Given the description of an element on the screen output the (x, y) to click on. 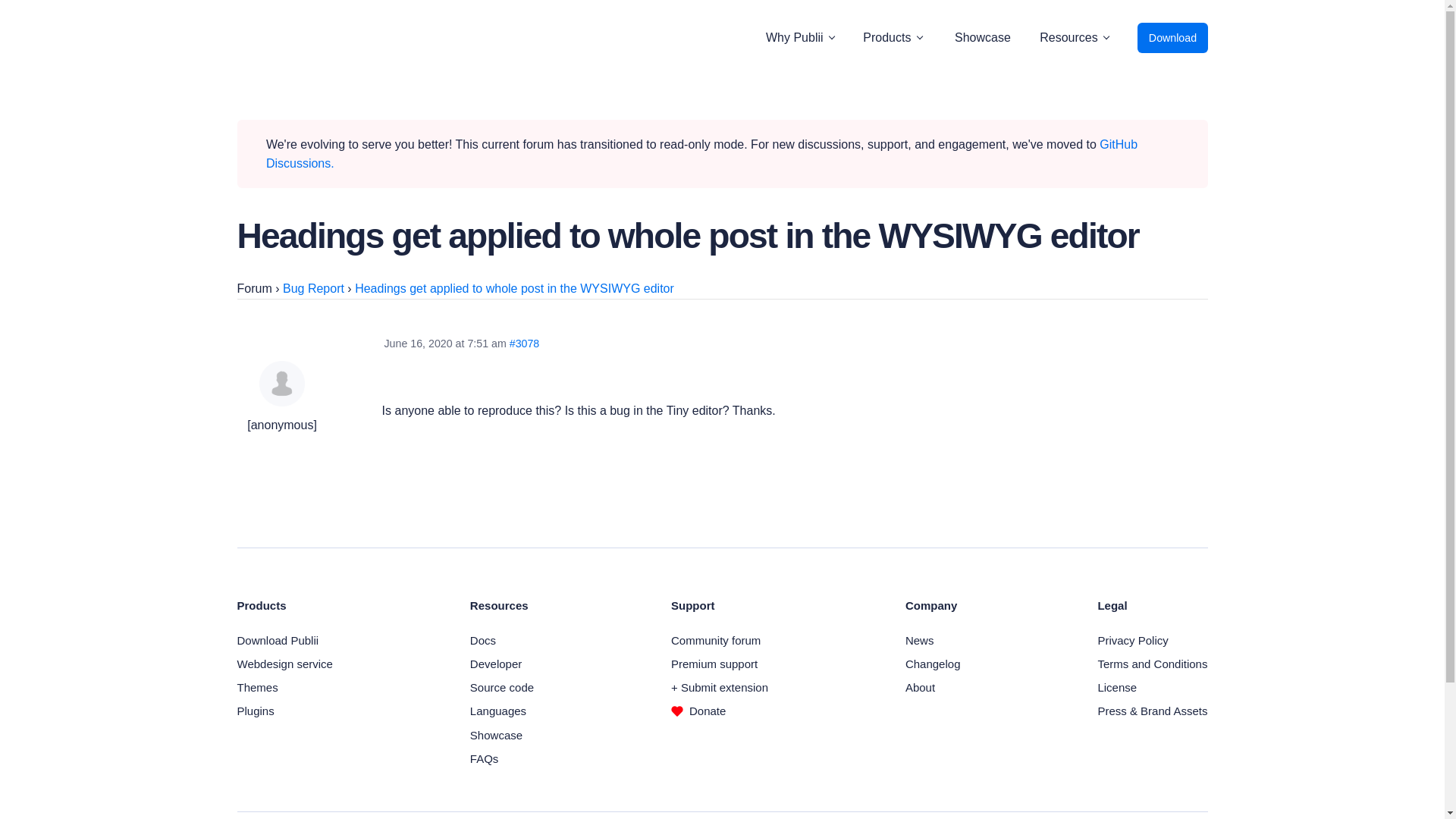
Languages (497, 710)
Donate (698, 710)
Terms and Conditions (1152, 663)
Privacy Policy (1132, 640)
Showcase (496, 735)
Community forum (715, 640)
Download (1172, 37)
Bug Report (312, 287)
Forum (252, 287)
Showcase (982, 38)
GitHub Discussions. (701, 154)
Premium support (714, 663)
Developer (495, 663)
Webdesign service (283, 663)
About (919, 686)
